Given the description of an element on the screen output the (x, y) to click on. 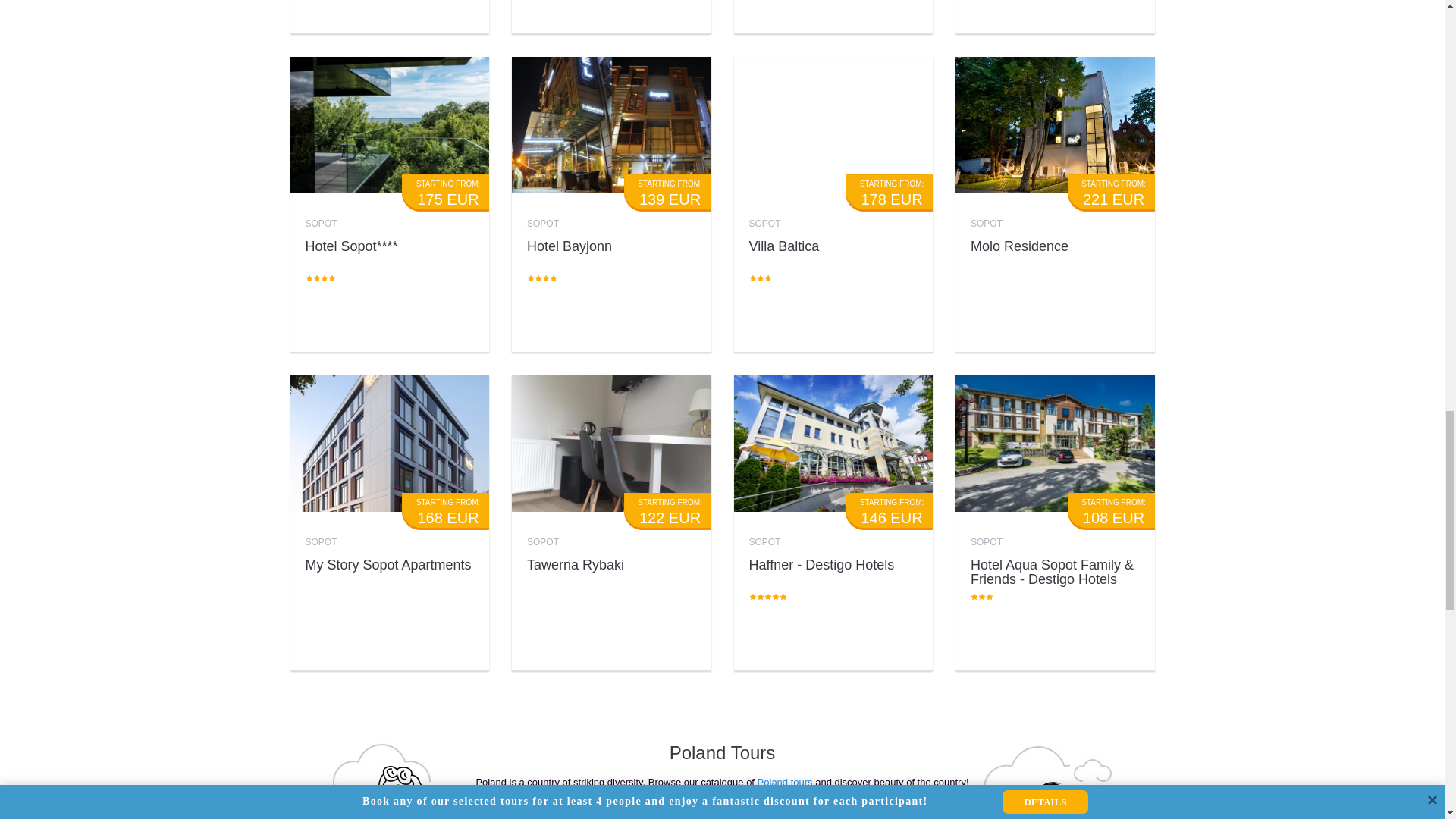
Molo Residence (1019, 246)
Tawerna Rybaki (575, 564)
Poland Tours (722, 752)
Krakow tours (636, 814)
Villa Baltica (784, 246)
Haffner - Destigo Hotels (822, 564)
My Story Sopot Apartments (387, 564)
Poland tours (786, 781)
Hotel Bayjonn (569, 246)
Warsaw tours (550, 814)
